Given the description of an element on the screen output the (x, y) to click on. 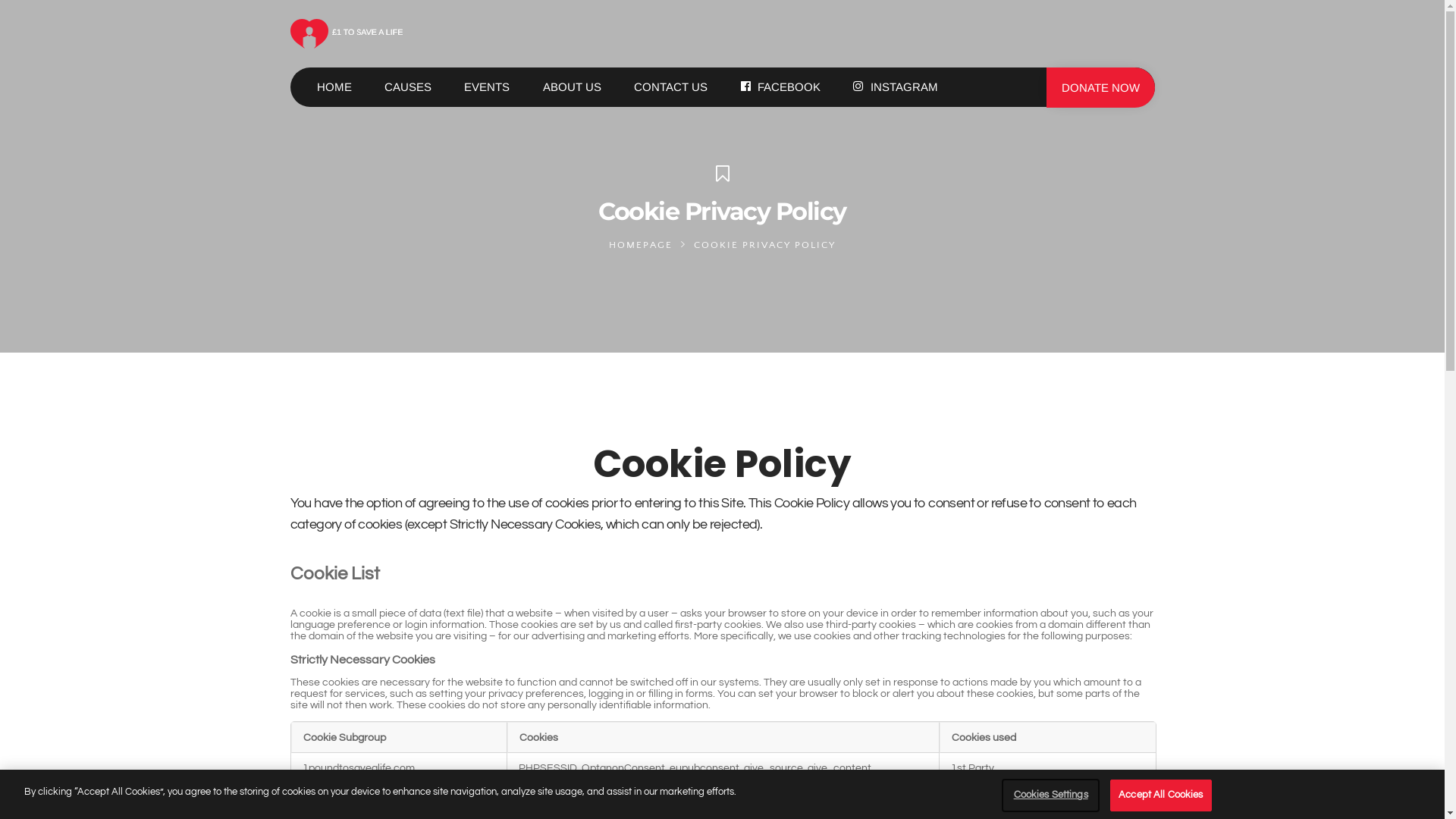
ABOUT US Element type: text (571, 86)
HOME Element type: text (333, 86)
Cookies Settings Element type: text (1050, 795)
FACEBOOK Element type: text (780, 86)
give_content Element type: text (838, 767)
OptanonAlertBoxClosed Element type: text (840, 778)
wordpress_test_cookie Element type: text (721, 778)
give_source Element type: text (772, 767)
HOMEPAGE Element type: text (640, 244)
www.paypal.com Element type: text (341, 809)
PHPSESSID Element type: text (547, 767)
OptanonConsent Element type: text (622, 767)
eupubconsent Element type: text (703, 767)
EVENTS Element type: text (486, 86)
INSTAGRAM Element type: text (895, 86)
Accept All Cookies Element type: text (1160, 795)
DONATE NOW Element type: text (1100, 87)
CONTACT US Element type: text (670, 86)
give_campaign Element type: text (623, 778)
give_medium Element type: text (550, 778)
English Element type: hover (162, 800)
CAUSES Element type: text (407, 86)
